Given the description of an element on the screen output the (x, y) to click on. 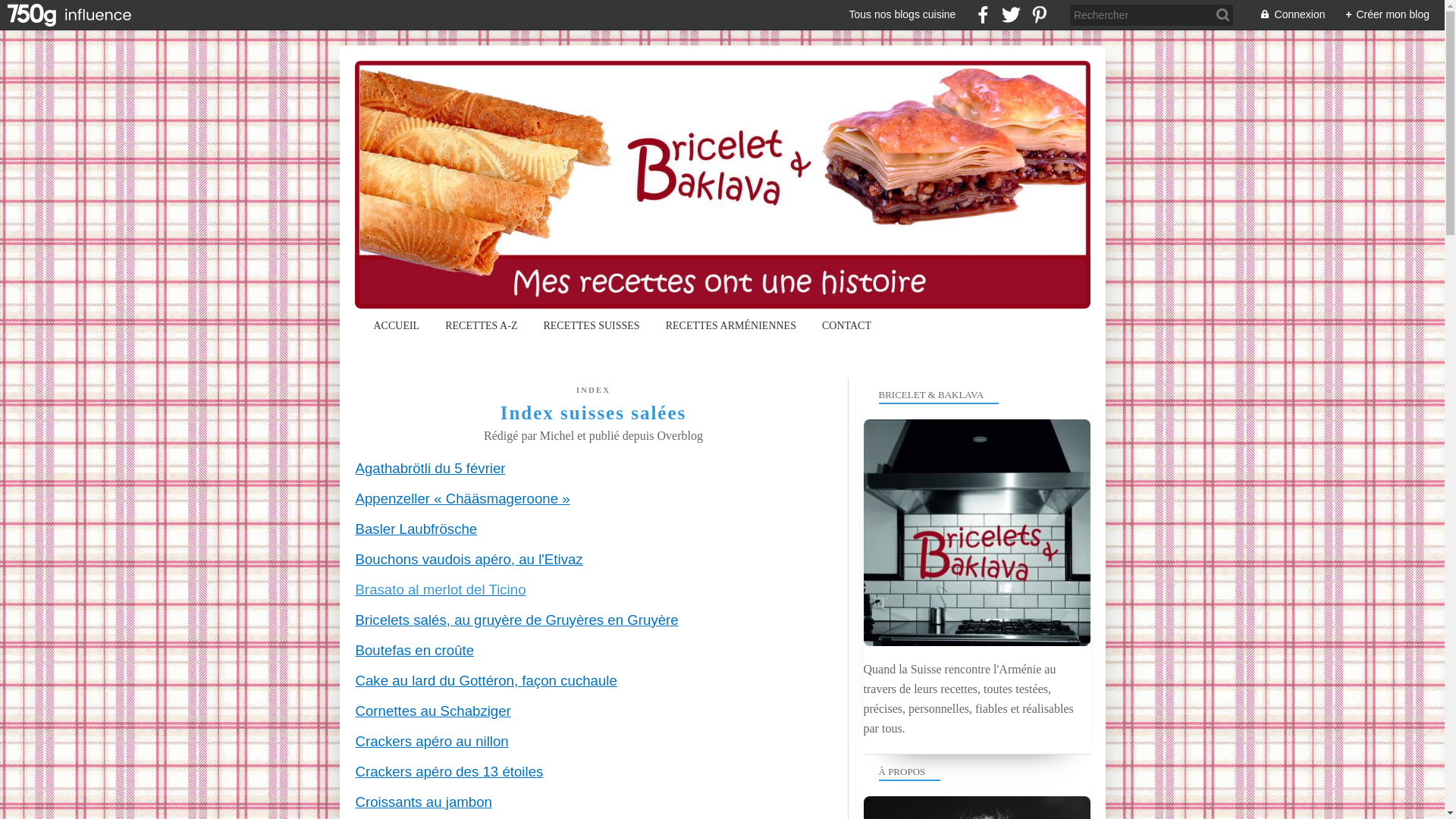
 twitter Element type: hover (1010, 14)
 pinterest Element type: hover (1038, 14)
Connexion Element type: text (1284, 14)
Tous nos blogs cuisine Element type: text (901, 14)
CONTACT Element type: text (846, 325)
ACCUEIL Element type: text (396, 325)
Brasato al merlot del Ticino Element type: text (439, 589)
Croissants au jambon Element type: text (422, 801)
 facebook Element type: hover (982, 14)
RECETTES A-Z Element type: text (480, 325)
RECETTES SUISSES Element type: text (590, 325)
INDEX Element type: text (593, 389)
Cornettes au Schabziger Element type: text (432, 710)
